Given the description of an element on the screen output the (x, y) to click on. 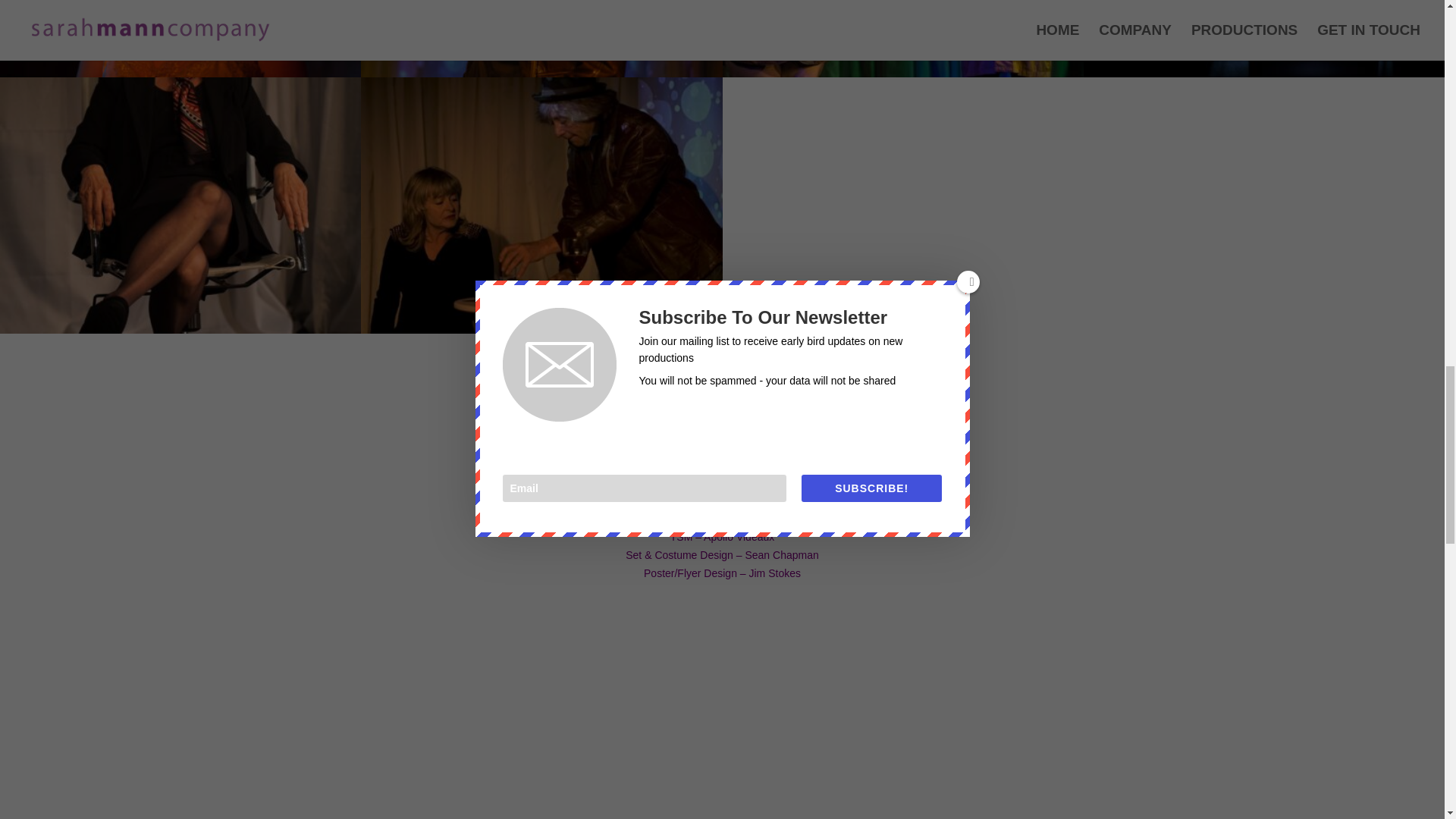
Duncan (541, 77)
Val (180, 333)
Debbie and Duncan (541, 333)
Jess (180, 77)
